Given the description of an element on the screen output the (x, y) to click on. 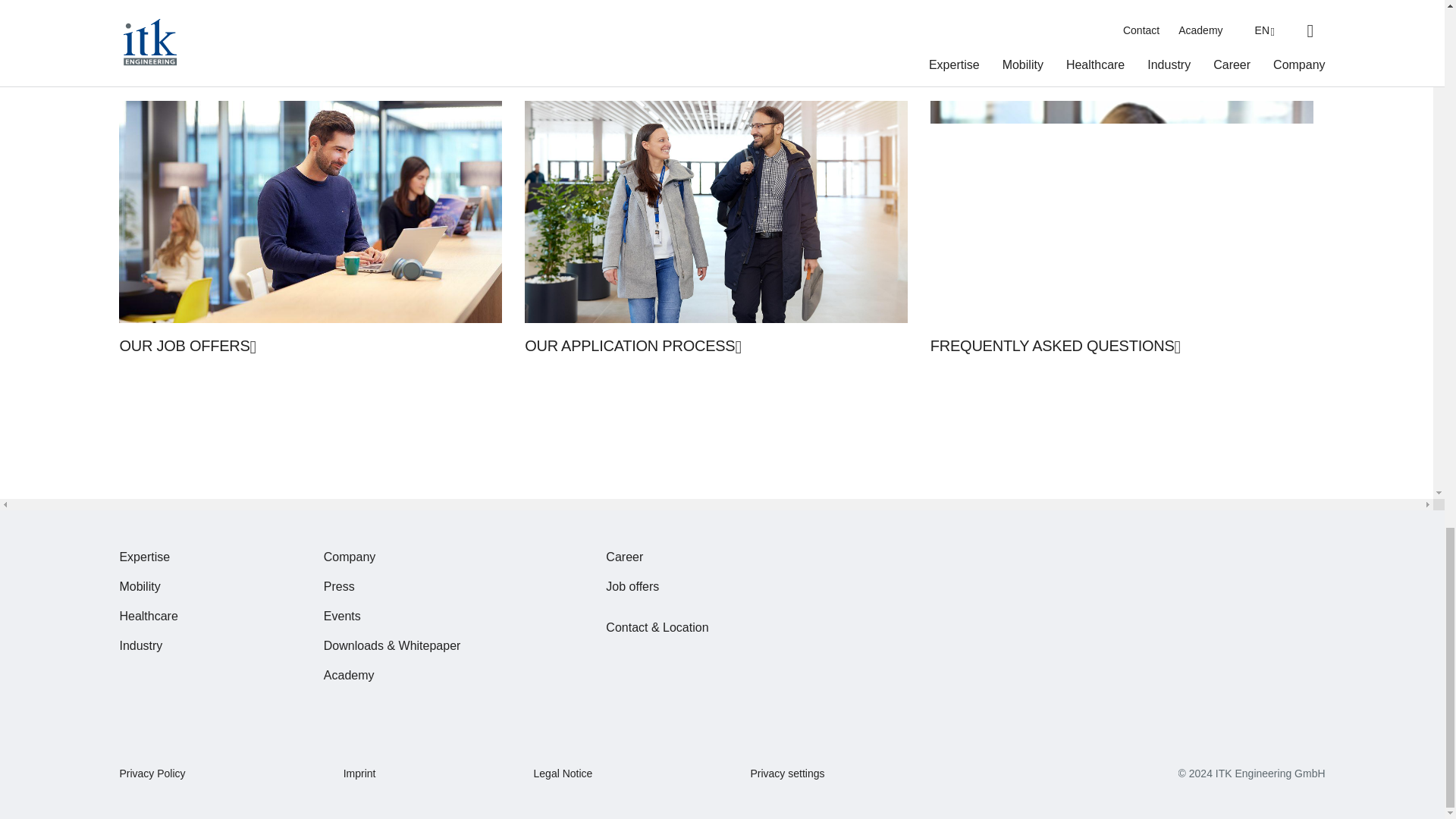
itk-url (1250, 773)
